Given the description of an element on the screen output the (x, y) to click on. 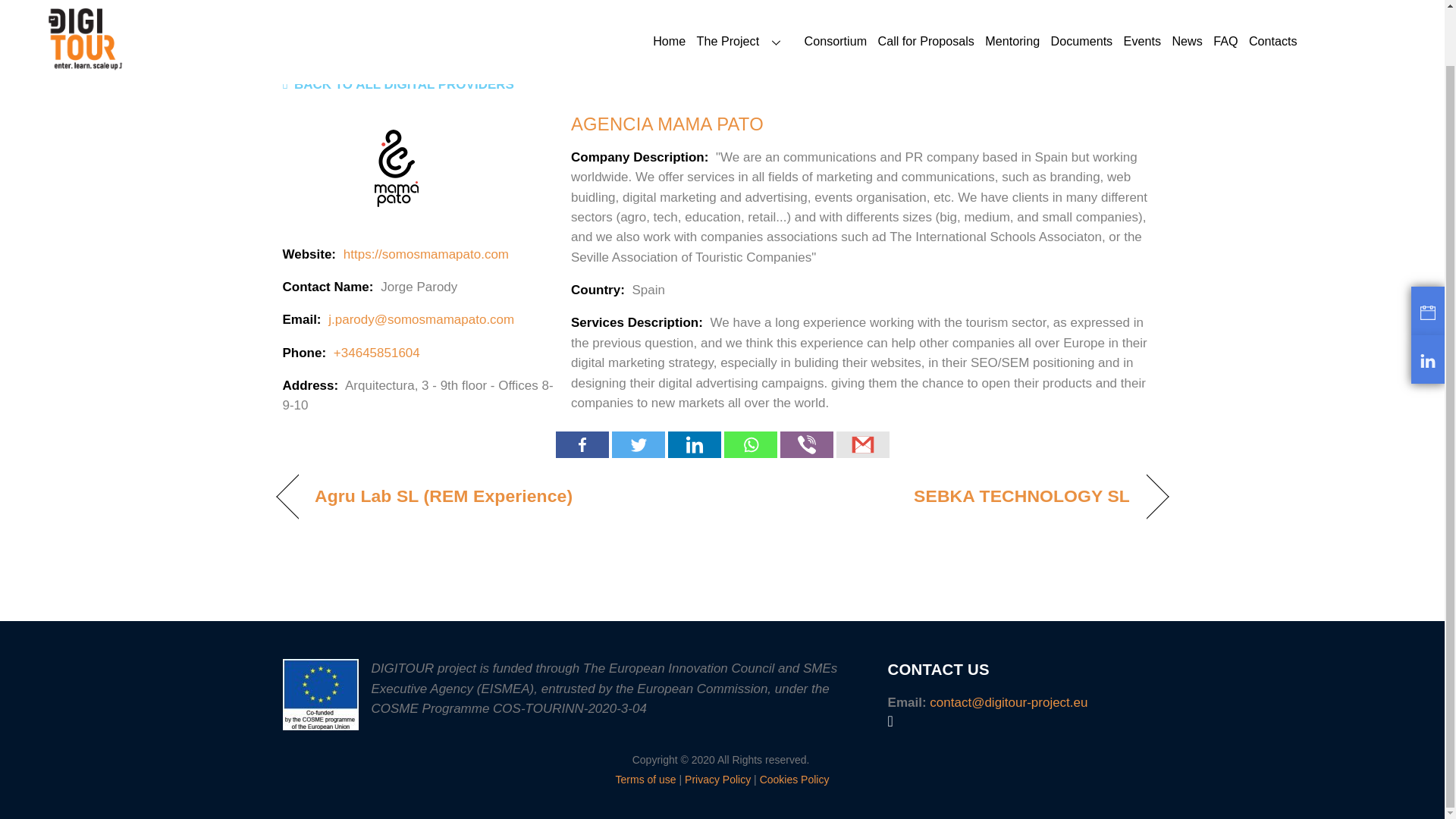
Viber (805, 444)
BACK TO ALL DIGITAL PROVIDERS (397, 83)
DIGITOUR (85, 7)
Facebook (581, 444)
Terms of use (646, 779)
Privacy Policy (717, 779)
Twitter (637, 444)
Linkedin (693, 444)
Whatsapp (749, 444)
Google Gmail (861, 444)
AGENCIA MAMA PATO (666, 123)
